Given the description of an element on the screen output the (x, y) to click on. 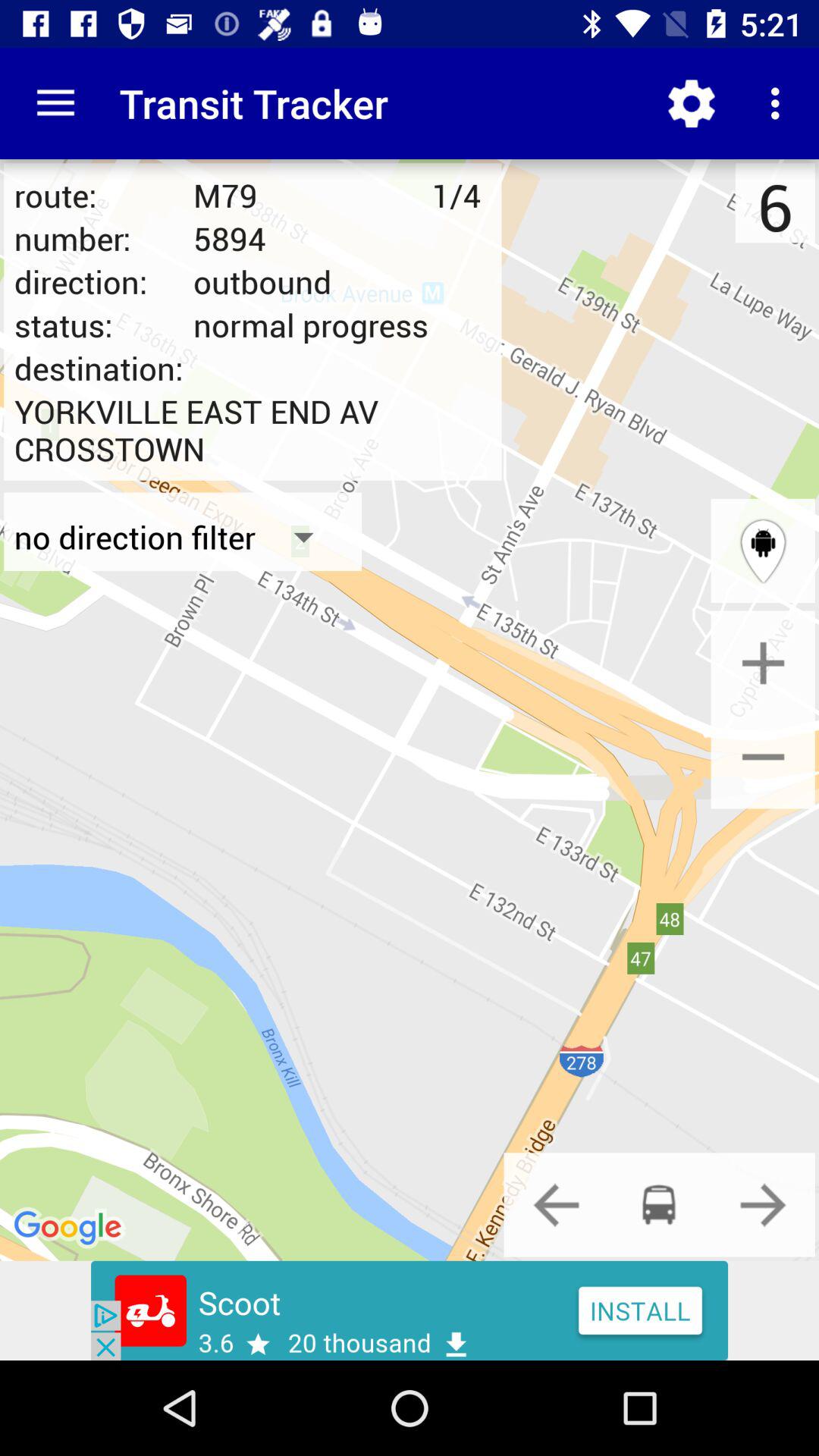
click to the previous (555, 1204)
